Given the description of an element on the screen output the (x, y) to click on. 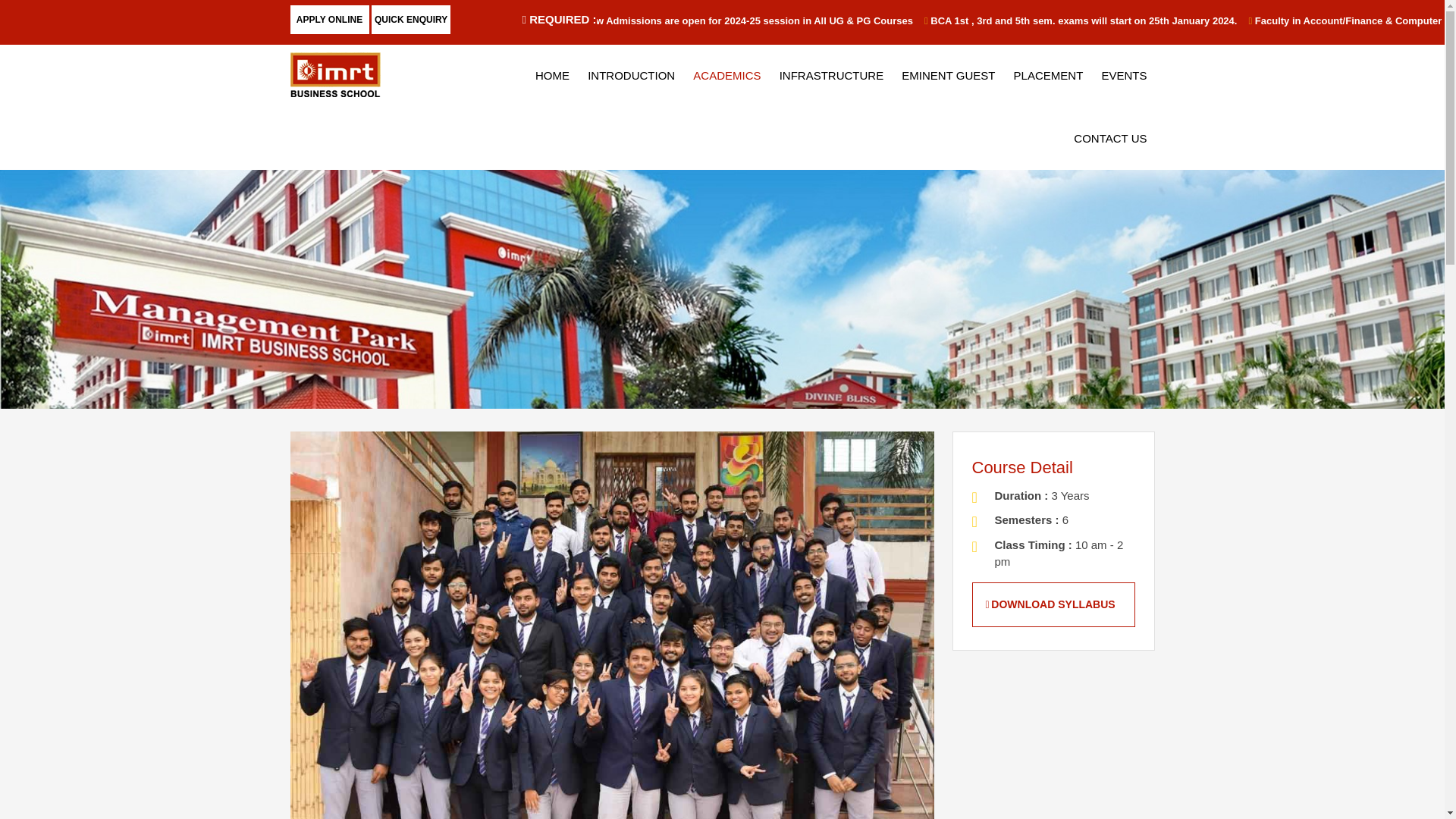
INFRASTRUCTURE (831, 76)
INTRODUCTION (630, 76)
CONTACT US (1109, 138)
EVENTS (1123, 76)
EMINENT GUEST (948, 76)
PLACEMENT (1048, 76)
ACADEMICS (726, 76)
QUICK ENQUIRY (410, 19)
APPLY ONLINE (328, 19)
